Given the description of an element on the screen output the (x, y) to click on. 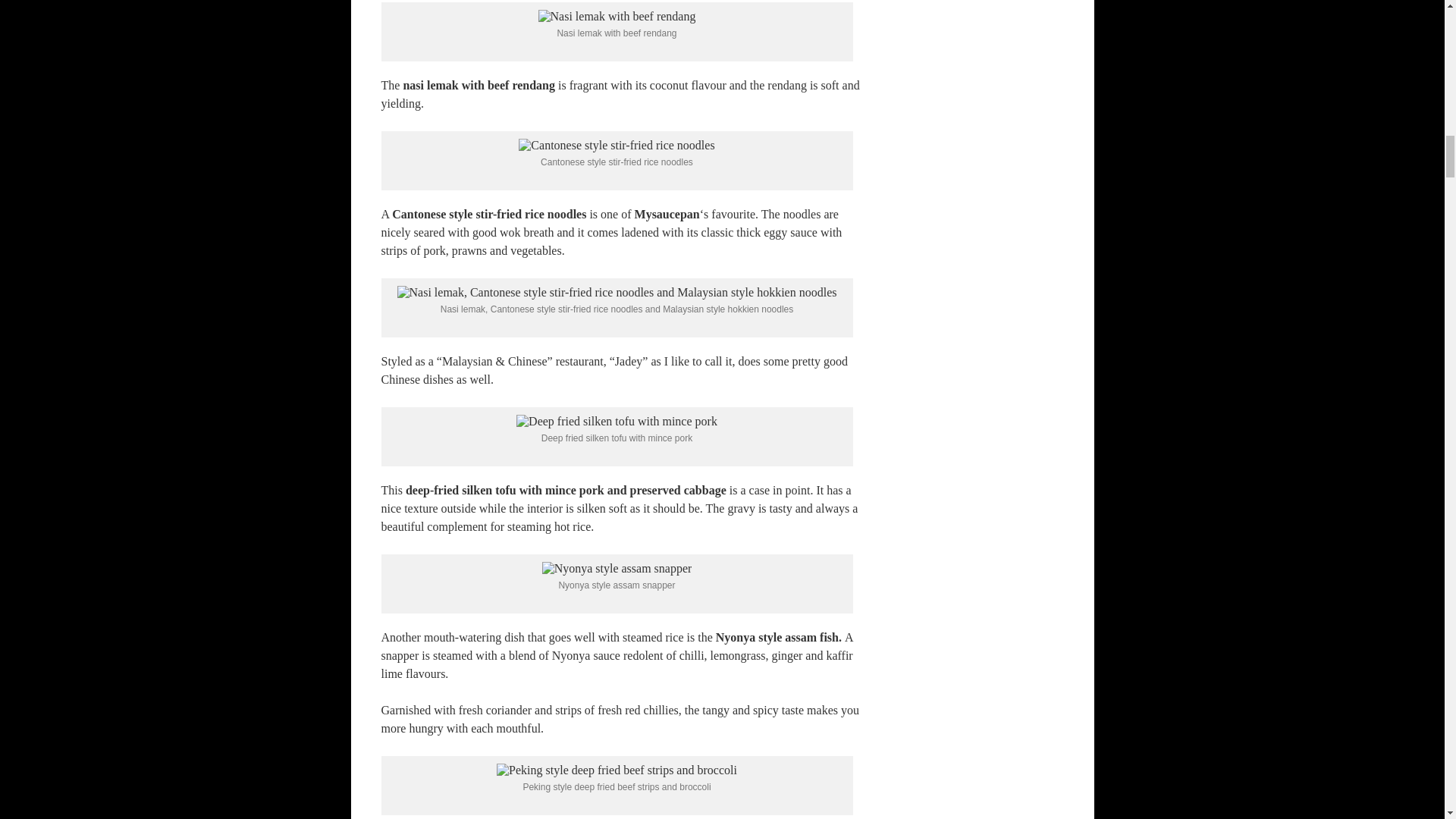
Cantonese style stir-fried rice noodles (616, 145)
Nasi lemak with beef rendang (616, 16)
Nyonya style assam snapper (617, 568)
Deep fried silken tofu with mince pork (616, 421)
